Given the description of an element on the screen output the (x, y) to click on. 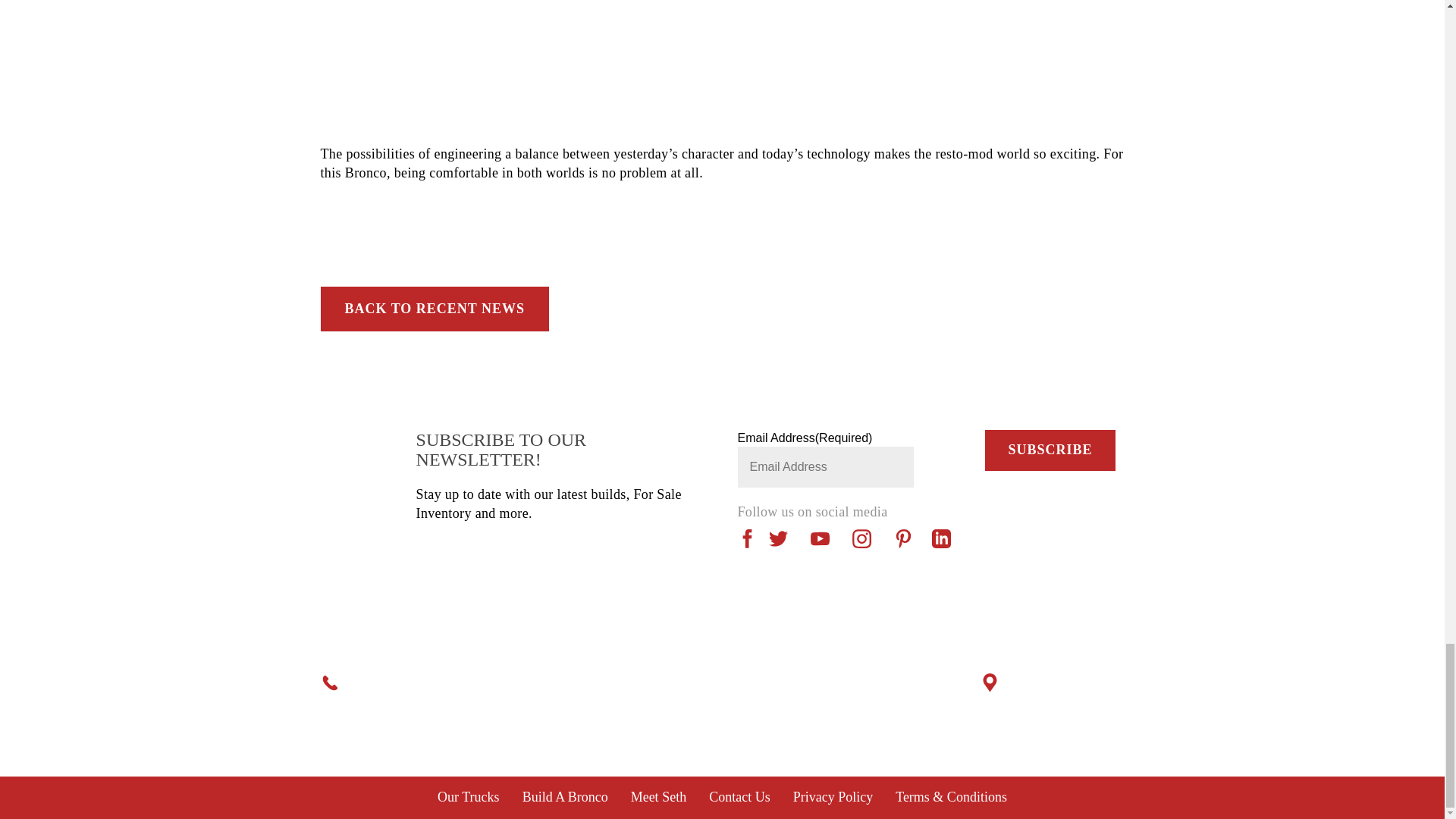
Subscribe (1050, 449)
Subscribe (1050, 449)
BACK TO RECENT NEWS (434, 308)
